Given the description of an element on the screen output the (x, y) to click on. 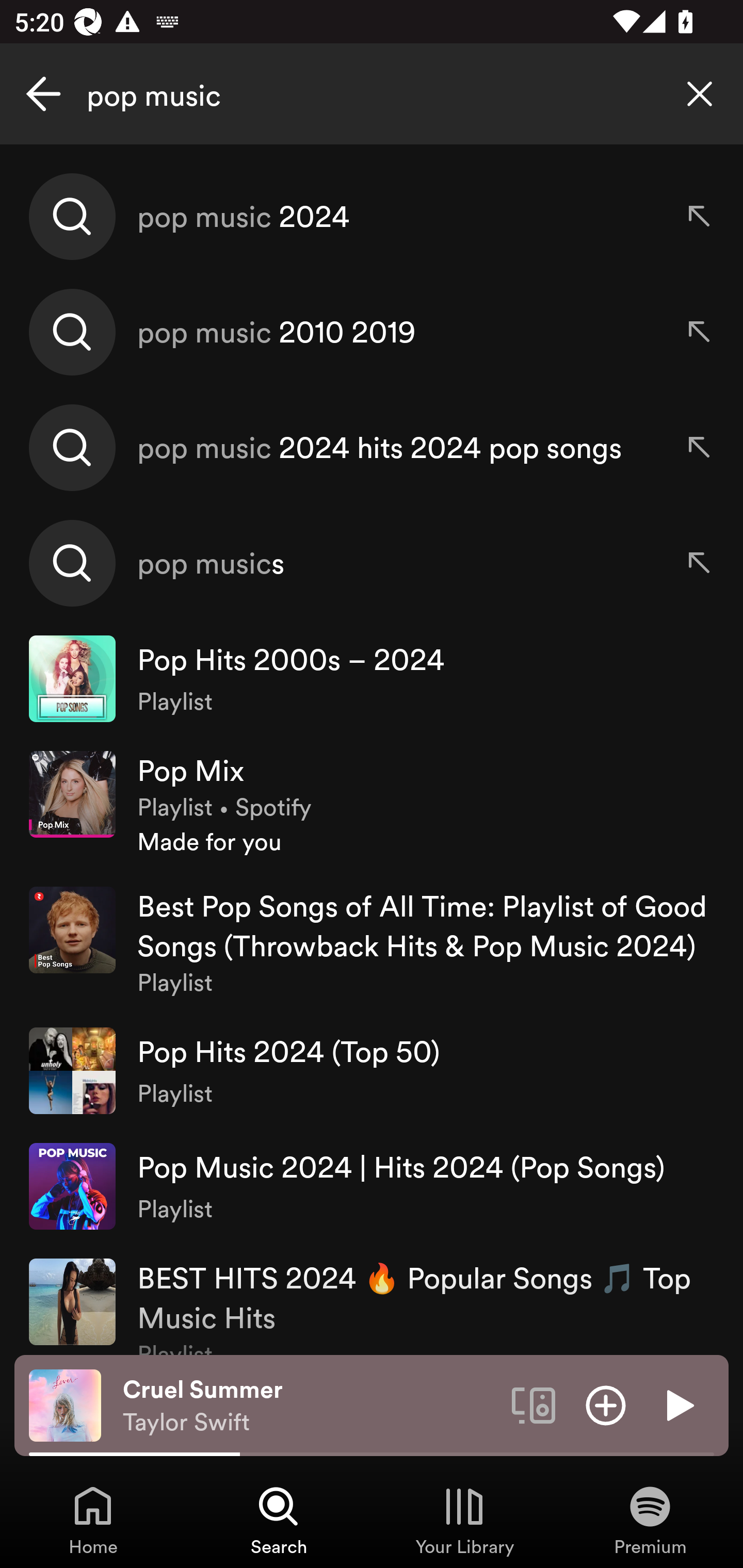
pop music (371, 93)
Cancel (43, 93)
Clear search query (699, 93)
pop music 2024 (371, 216)
pop music 2010 2019 (371, 332)
pop music 2024 hits 2024 pop songs (371, 447)
pop musics (371, 562)
Pop Hits 2000s – 2024 Playlist (371, 678)
Pop Mix Playlist • Spotify Made for you (371, 803)
Pop Hits 2024 (Top 50) Playlist (371, 1070)
Pop Music 2024 | Hits 2024 (Pop Songs) Playlist (371, 1185)
Cruel Summer Taylor Swift (309, 1405)
The cover art of the currently playing track (64, 1404)
Connect to a device. Opens the devices menu (533, 1404)
Add item (605, 1404)
Play (677, 1404)
Home, Tab 1 of 4 Home Home (92, 1519)
Search, Tab 2 of 4 Search Search (278, 1519)
Your Library, Tab 3 of 4 Your Library Your Library (464, 1519)
Premium, Tab 4 of 4 Premium Premium (650, 1519)
